Given the description of an element on the screen output the (x, y) to click on. 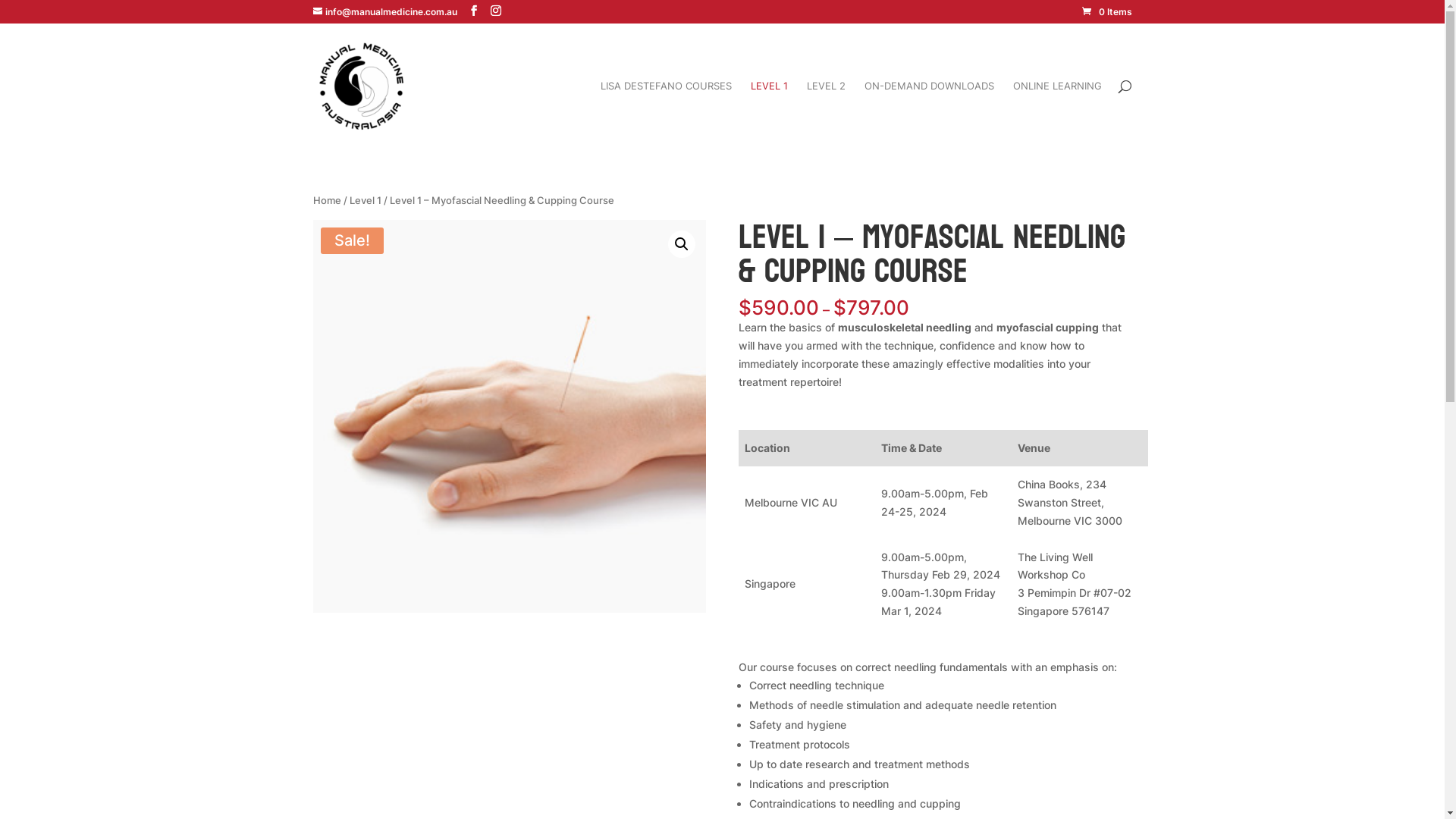
Level 1 Element type: text (364, 200)
0 Items Element type: text (1106, 11)
LEVEL 1 Element type: text (768, 113)
LEVEL 2 Element type: text (825, 113)
ONLINE LEARNING Element type: text (1057, 113)
info@manualmedicine.com.au Element type: text (384, 11)
LISA DESTEFANO COURSES Element type: text (665, 113)
Home Element type: text (326, 200)
ON-DEMAND DOWNLOADS Element type: text (929, 113)
